Given the description of an element on the screen output the (x, y) to click on. 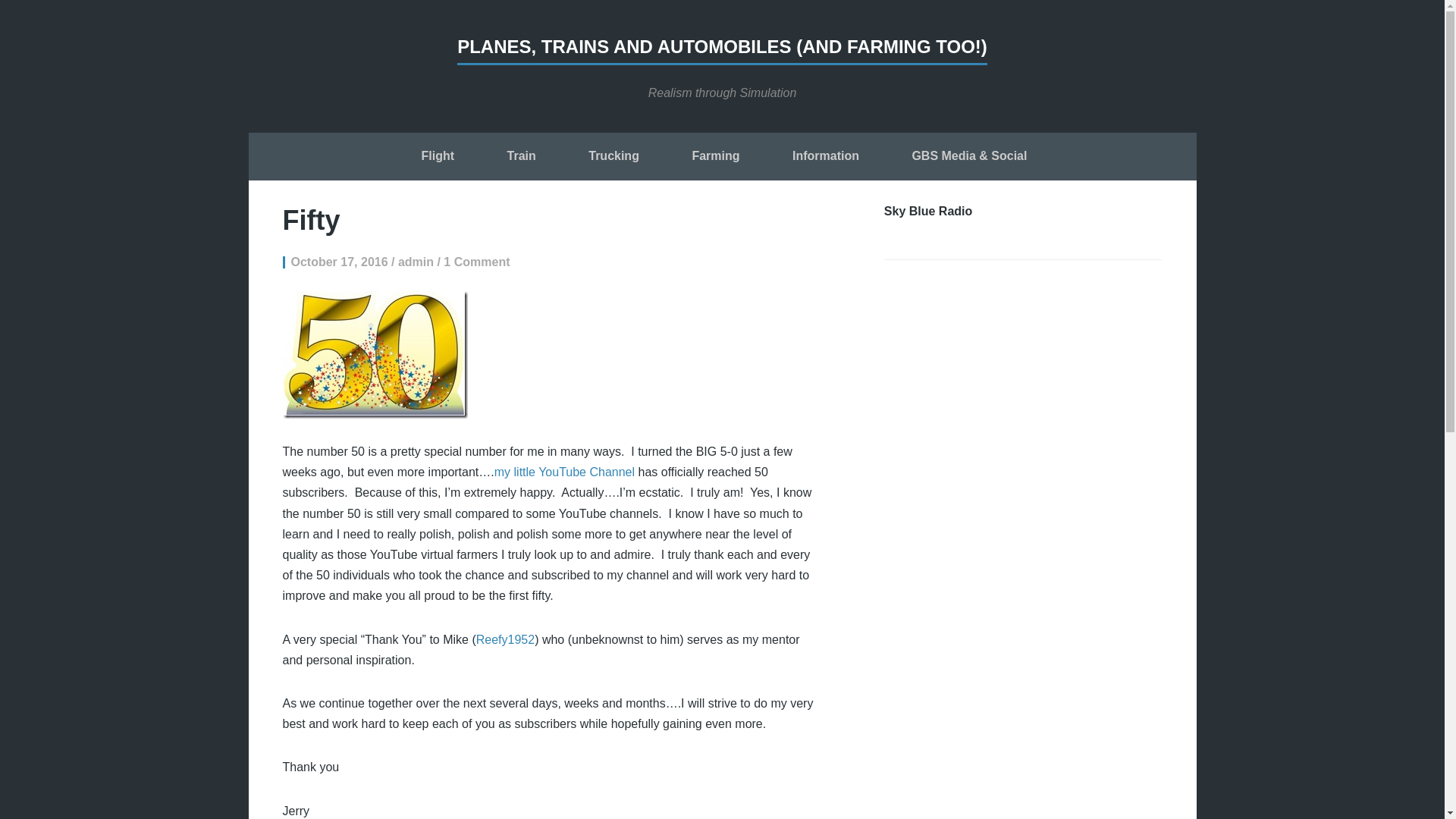
my little YouTube Channel (564, 472)
Train (521, 157)
Farming (715, 157)
Reefy1952 (505, 639)
Flight (437, 157)
Information (825, 157)
Number-50 (374, 354)
Trucking (613, 157)
